Given the description of an element on the screen output the (x, y) to click on. 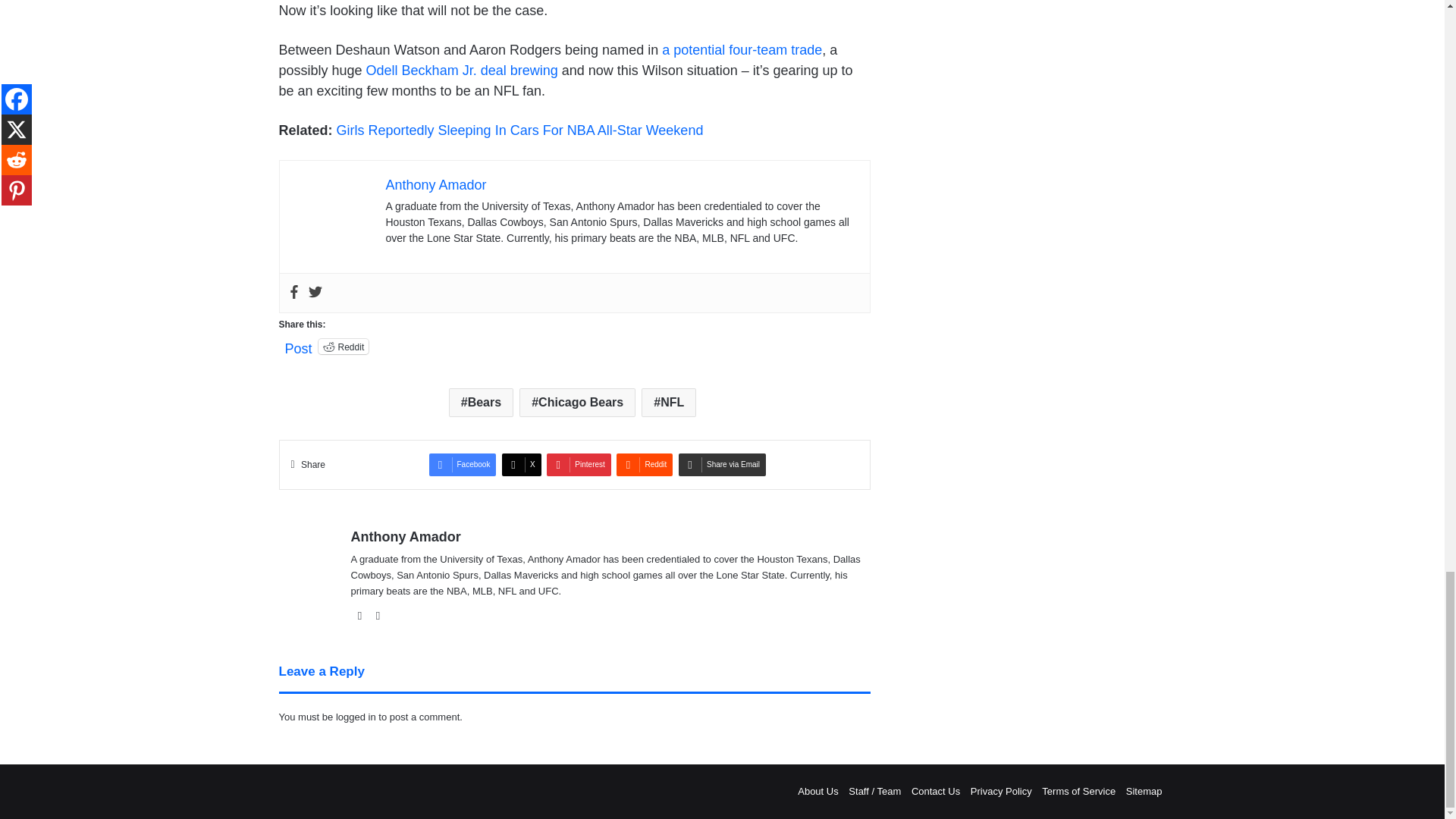
Anthony Amador (435, 184)
a potential four-team trade (742, 49)
Girls Reportedly Sleeping In Cars For NBA All-Star Weekend (519, 130)
Odell Beckham Jr. deal brewing (461, 70)
